Given the description of an element on the screen output the (x, y) to click on. 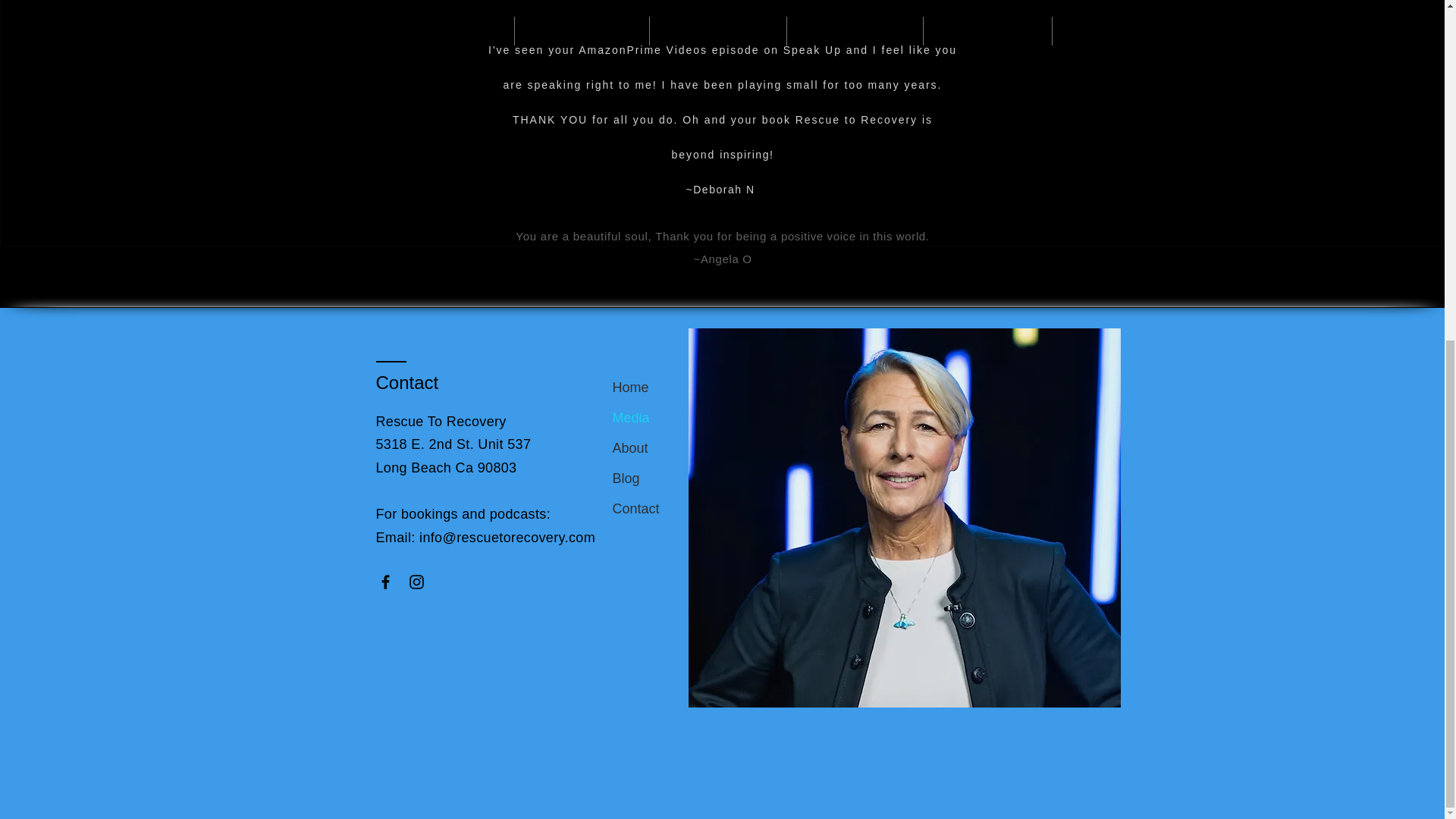
About (668, 448)
Blog (668, 478)
Home (668, 387)
